Given the description of an element on the screen output the (x, y) to click on. 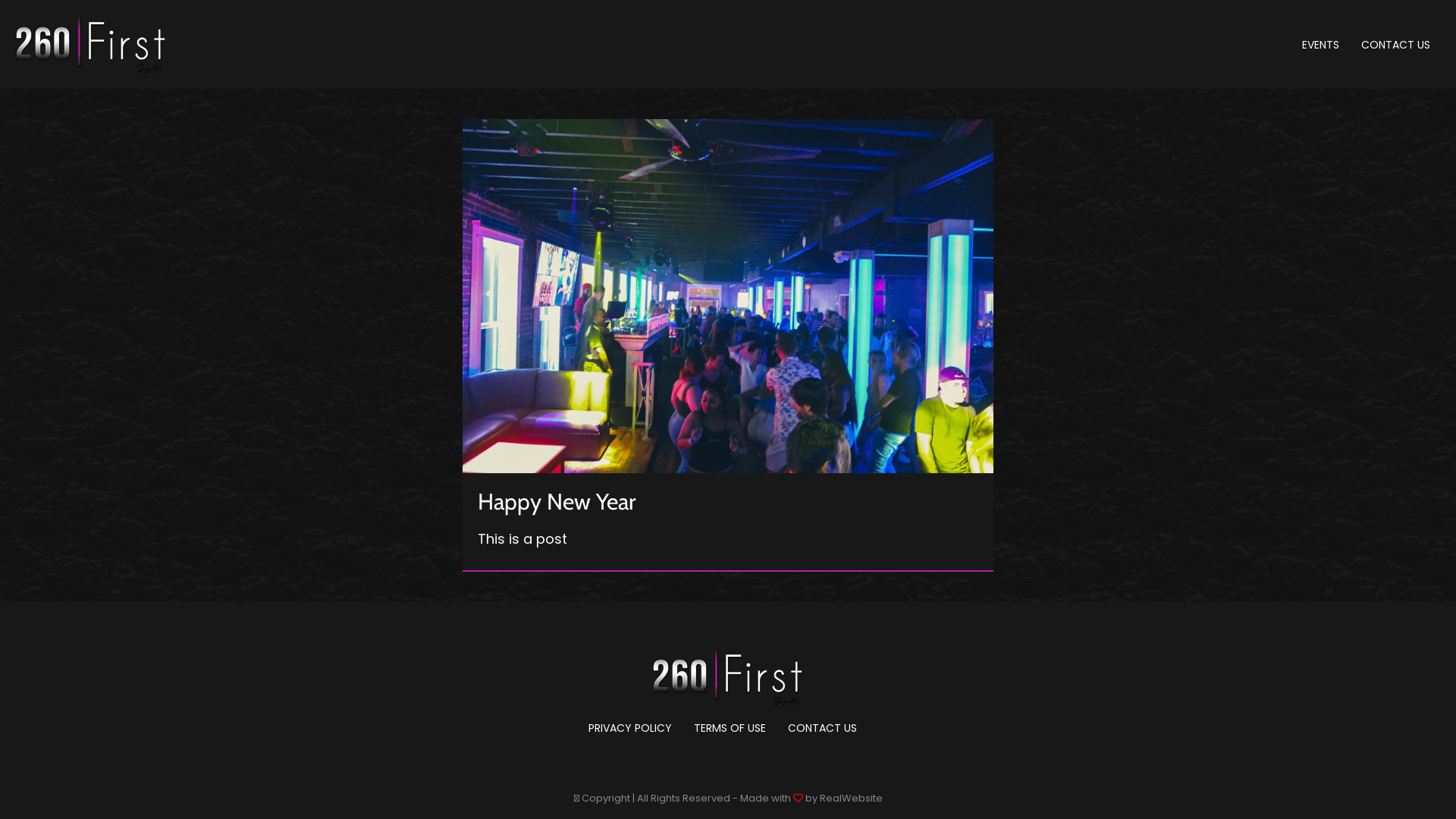
CONTACT US Element type: text (821, 728)
CONTACT US Element type: text (1395, 44)
PRIVACY POLICY Element type: text (629, 728)
EVENTS Element type: text (1320, 44)
TERMS OF USE Element type: text (728, 728)
RealWebsite Element type: text (850, 797)
